Given the description of an element on the screen output the (x, y) to click on. 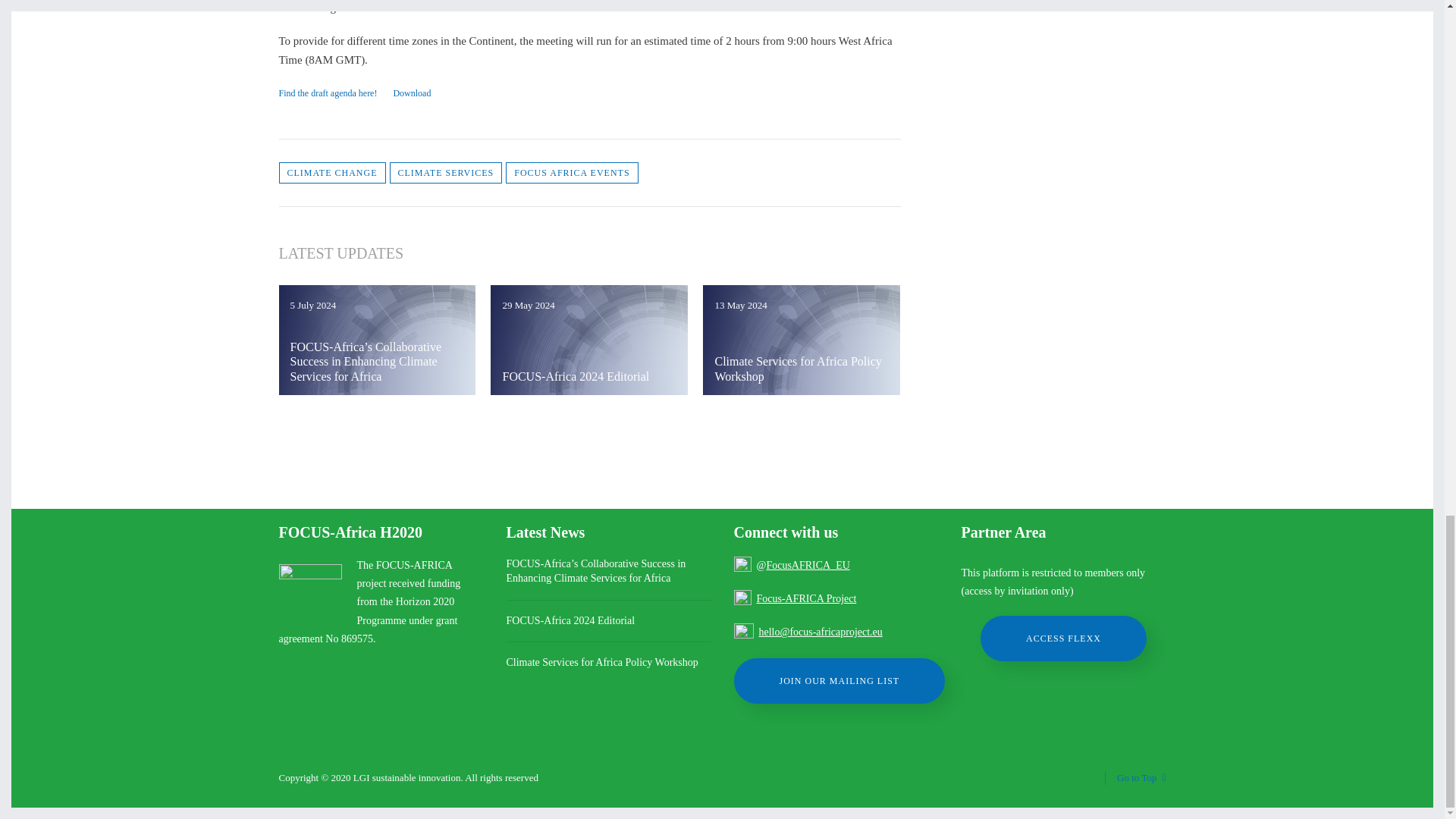
Green circle background (588, 339)
Green circle background (801, 339)
Green circle background (377, 339)
